Given the description of an element on the screen output the (x, y) to click on. 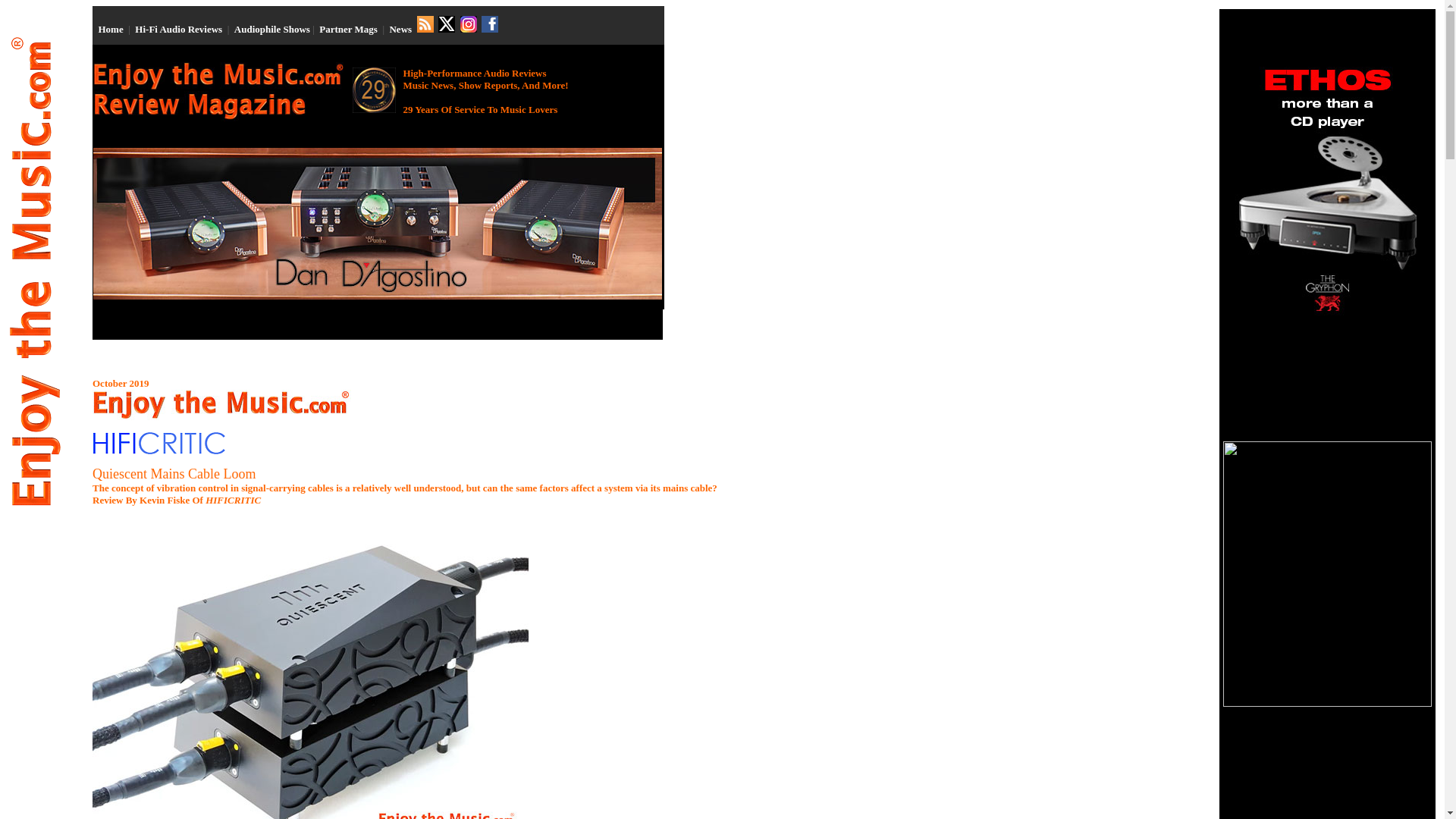
Home (111, 29)
Partner Mags (347, 29)
News (400, 29)
Hi-Fi Audio Reviews (178, 29)
Audiophile Shows (272, 29)
